Given the description of an element on the screen output the (x, y) to click on. 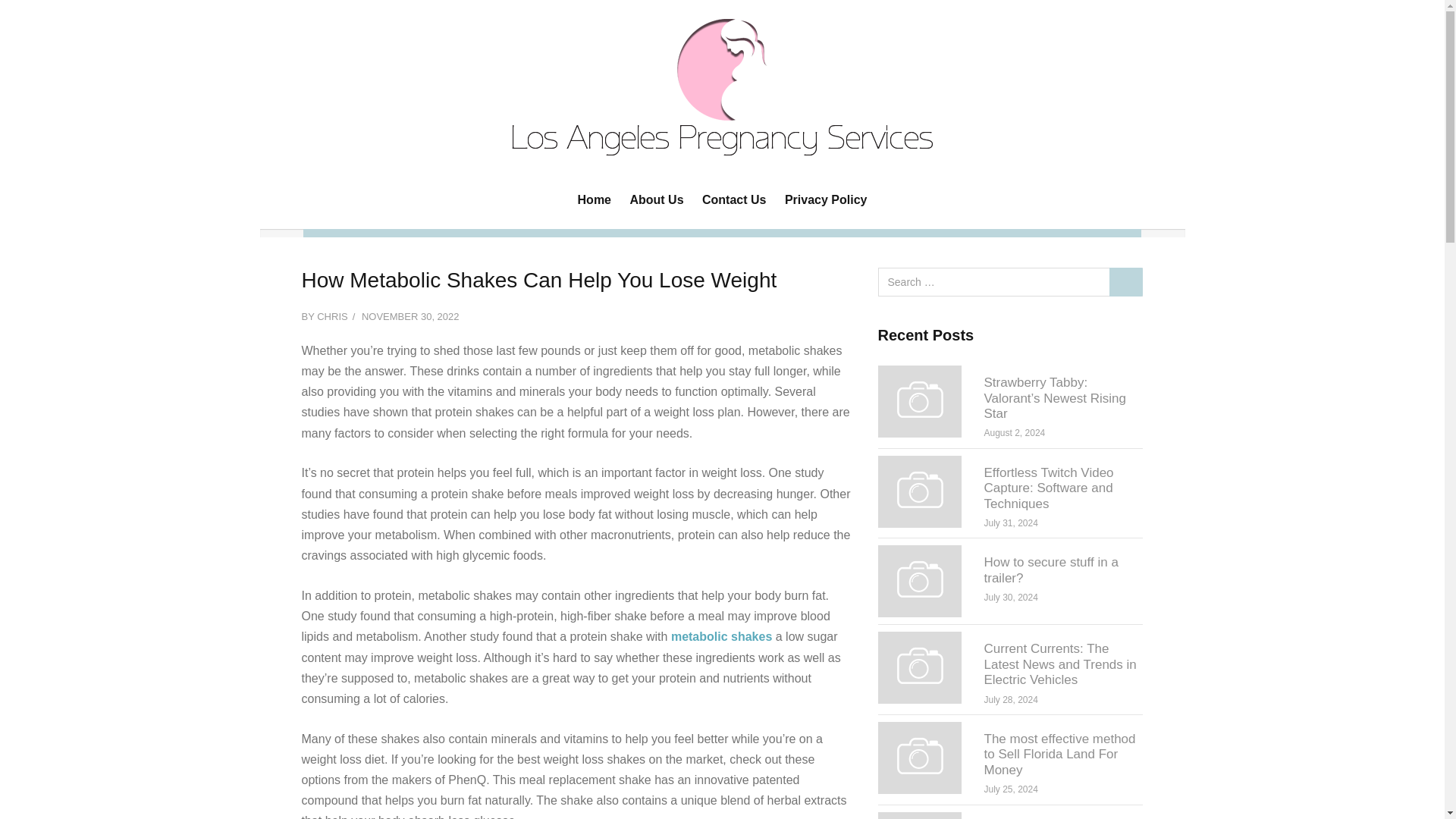
How to secure stuff in a trailer? (1051, 569)
Privacy Policy (825, 199)
Contact Us (734, 199)
The most effective method to Sell Florida Land For Money (1059, 754)
The most effective method to Sell Florida Land For Money (1059, 754)
Search for: (1009, 281)
How to secure stuff in a trailer? (918, 580)
metabolic shakes (721, 635)
Effortless Twitch Video Capture: Software and Techniques (1048, 488)
Effortless Twitch Video Capture: Software and Techniques (1048, 488)
How to secure stuff in a trailer? (1051, 569)
Effortless Twitch Video Capture: Software and Techniques (918, 490)
NOVEMBER 30, 2022 (410, 316)
